Given the description of an element on the screen output the (x, y) to click on. 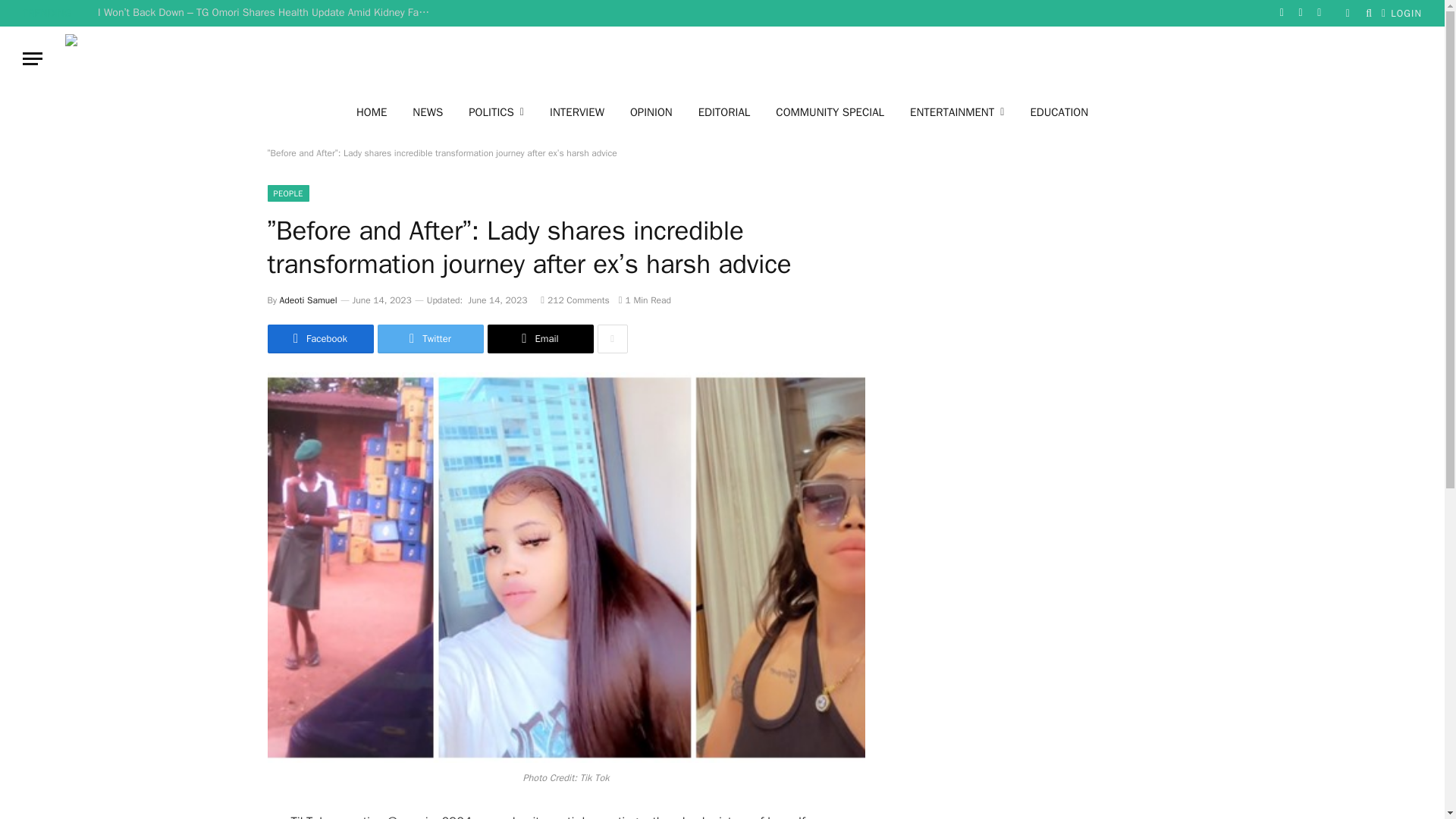
Daily Insider (760, 58)
HOME (370, 111)
POLITICS (496, 111)
LOGIN (1401, 13)
NEWS (426, 111)
Switch to Dark Design - easier on eyes. (1347, 12)
